Given the description of an element on the screen output the (x, y) to click on. 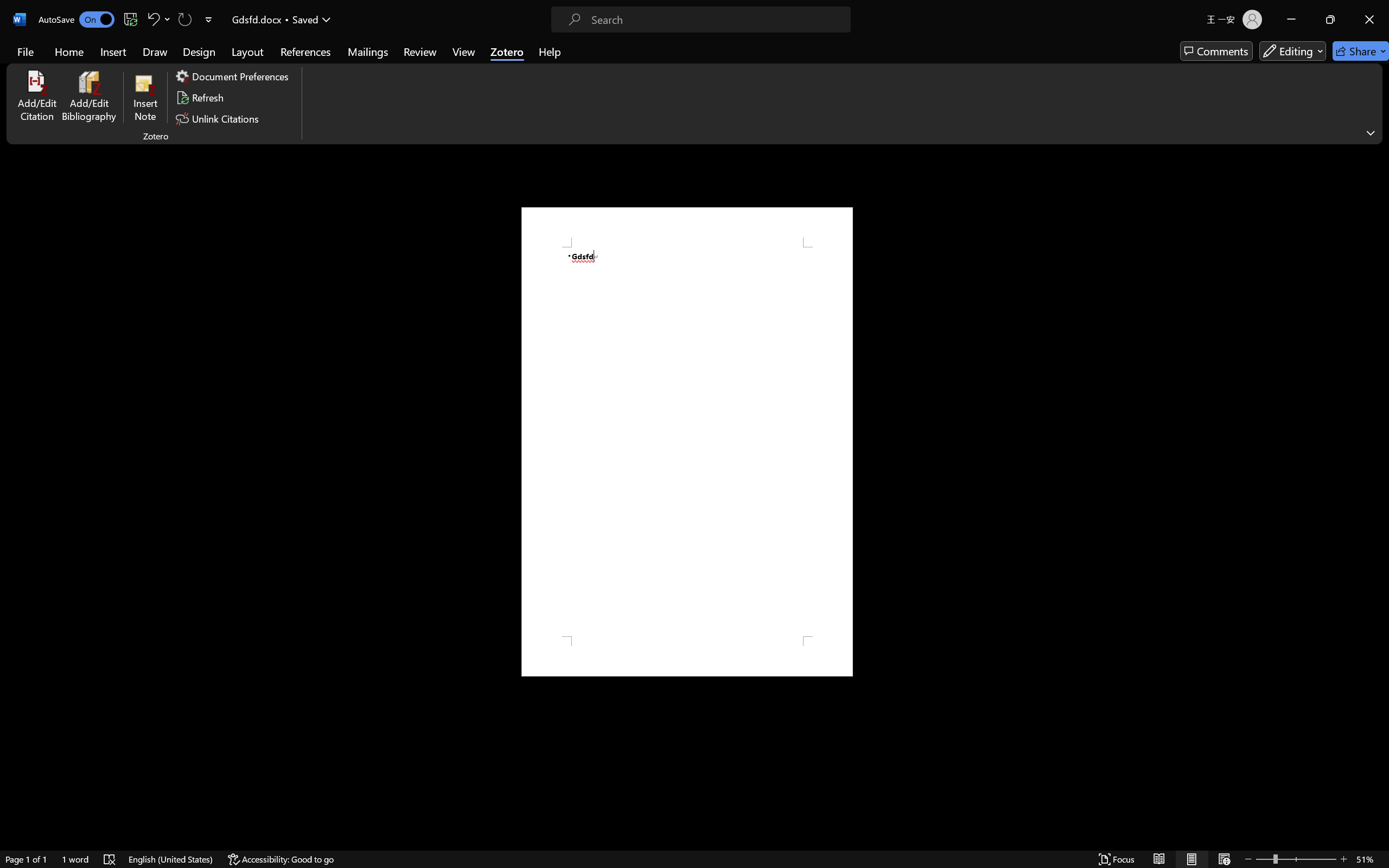
Page 1 content (686, 441)
